Given the description of an element on the screen output the (x, y) to click on. 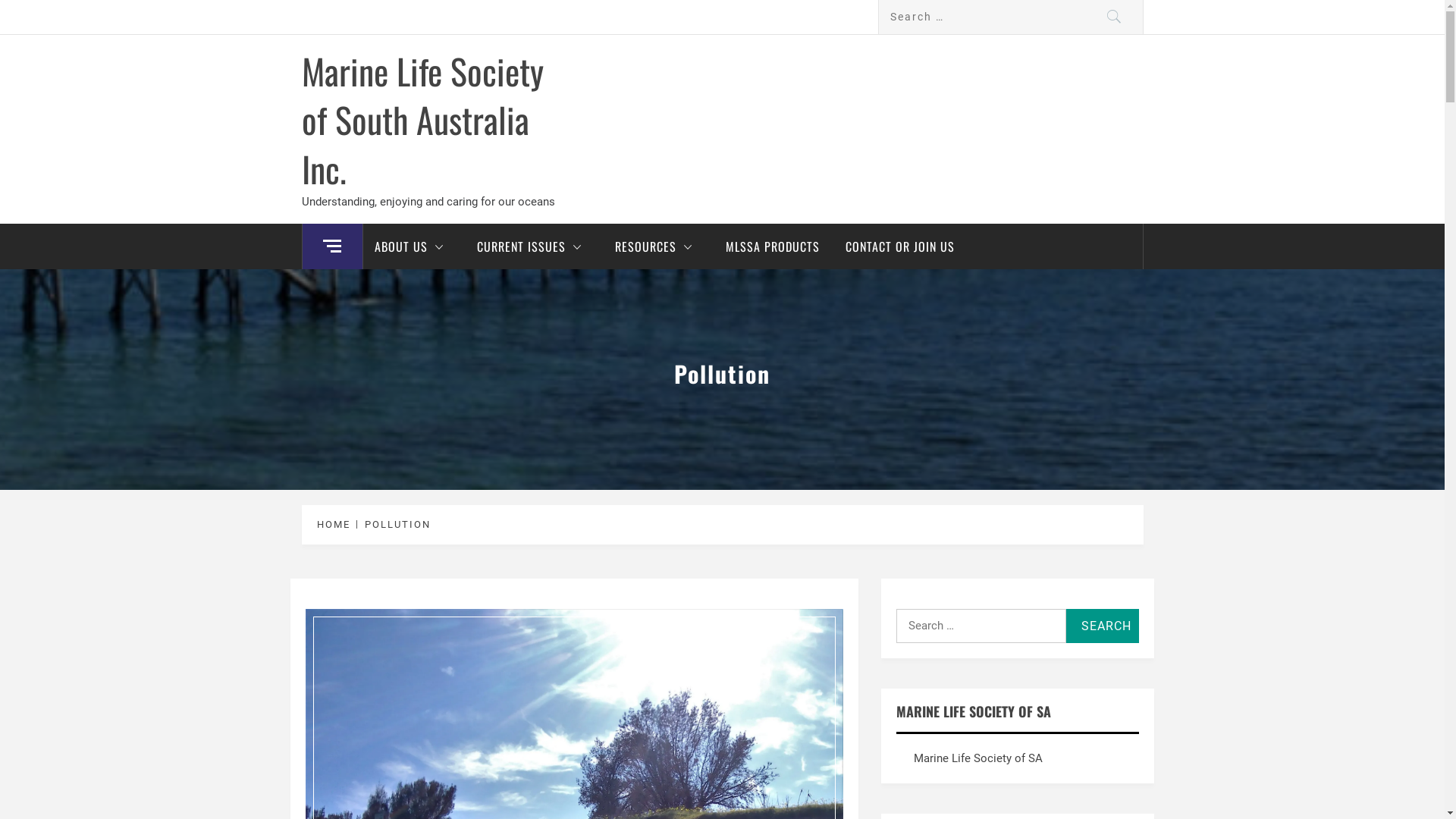
POLLUTION Element type: text (394, 524)
Marine Life Society of South Australia Inc. Element type: text (422, 119)
MARINE LIFE SOCIETY OF SA Element type: text (973, 711)
ABOUT US Element type: text (411, 246)
HOME Element type: text (335, 524)
RESOURCES Element type: text (657, 246)
Search Element type: text (1102, 625)
Marine Life Society of SA Element type: text (977, 758)
Search Element type: text (1113, 17)
CONTACT OR JOIN US Element type: text (900, 246)
MLSSA PRODUCTS Element type: text (772, 246)
CURRENT ISSUES Element type: text (532, 246)
